Given the description of an element on the screen output the (x, y) to click on. 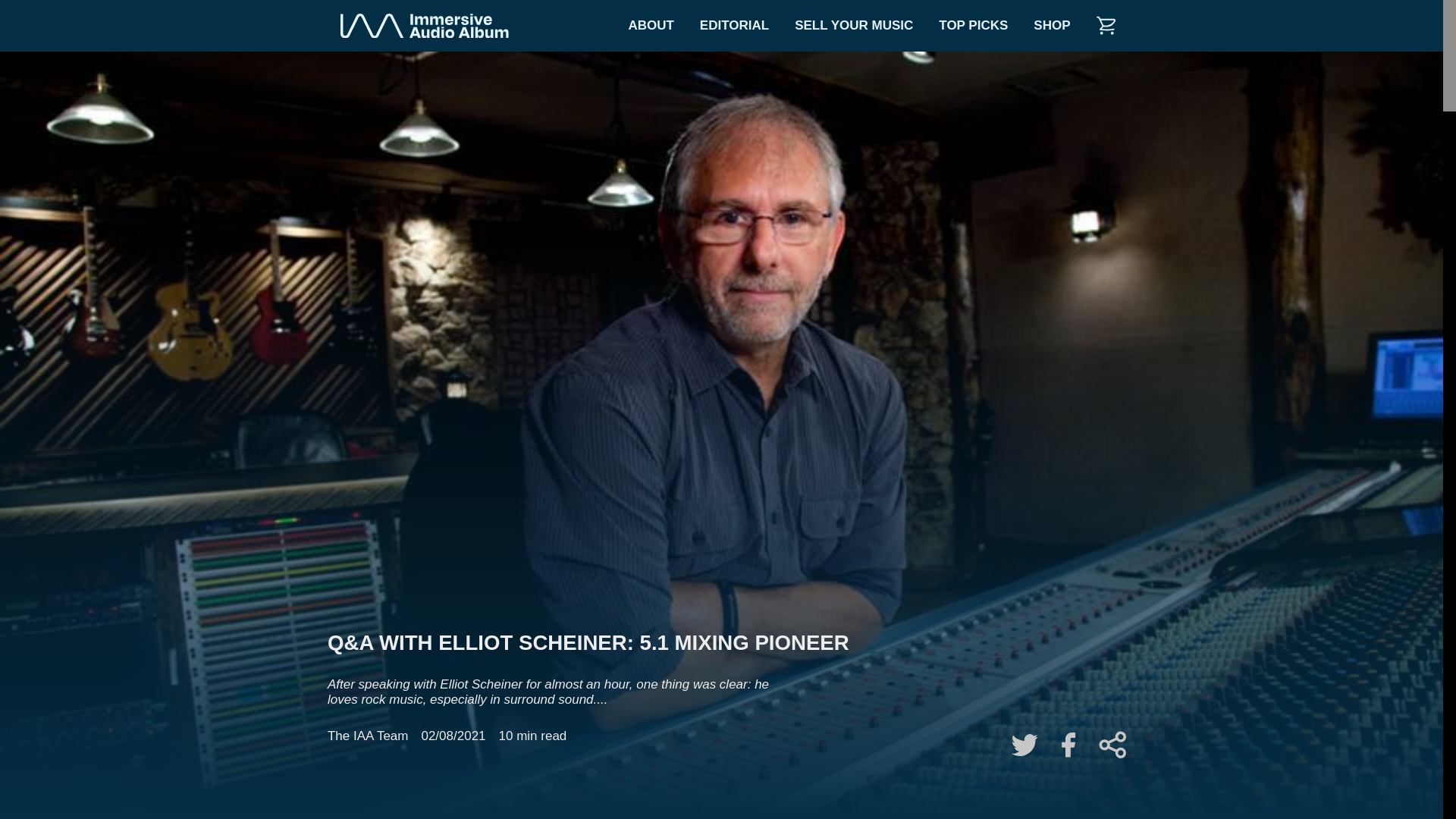
EDITORIAL (734, 25)
ABOUT (649, 25)
SELL YOUR MUSIC (853, 25)
SHOP (1051, 25)
TOP PICKS (973, 25)
